Given the description of an element on the screen output the (x, y) to click on. 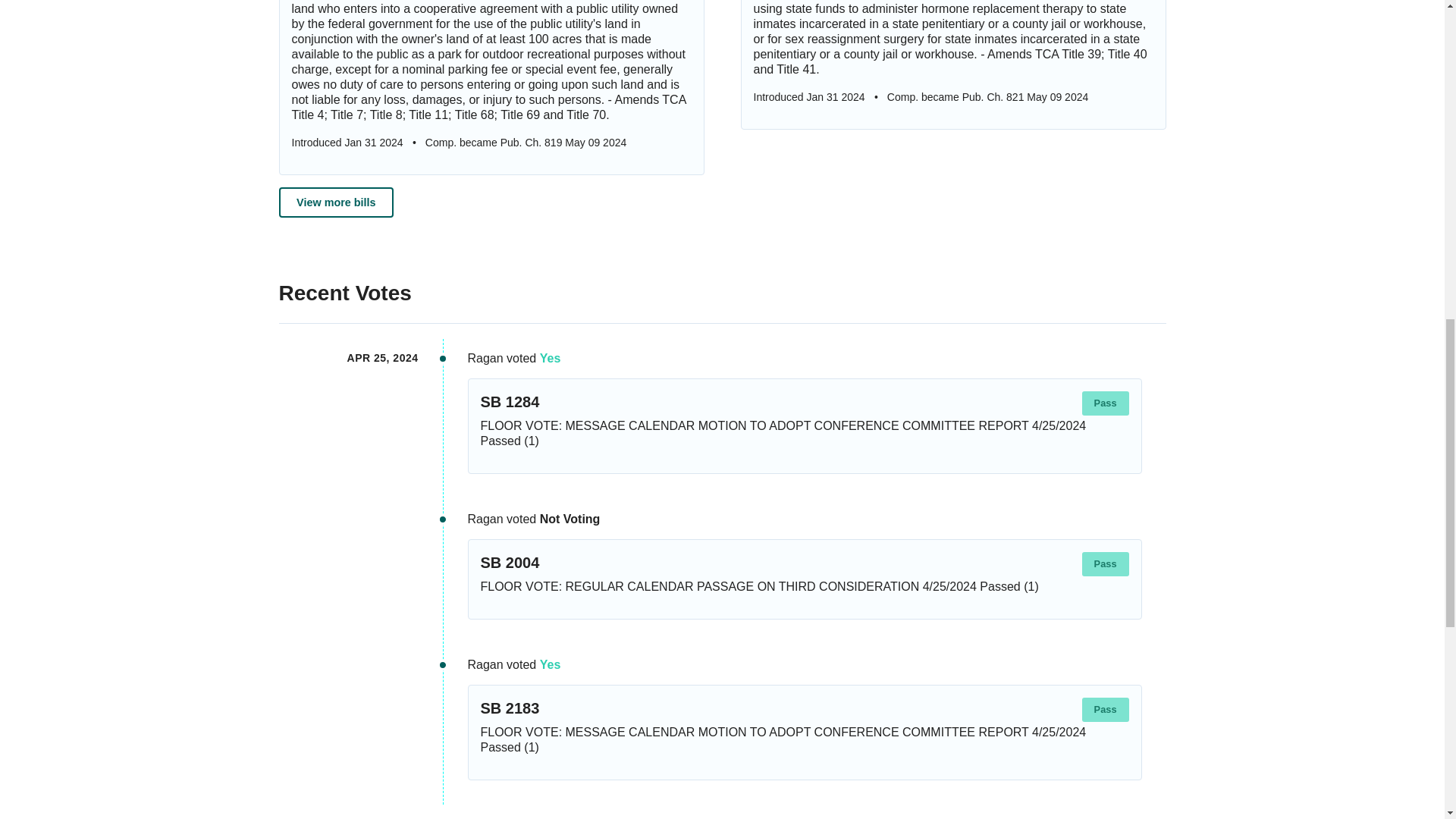
View more bills (336, 202)
